Given the description of an element on the screen output the (x, y) to click on. 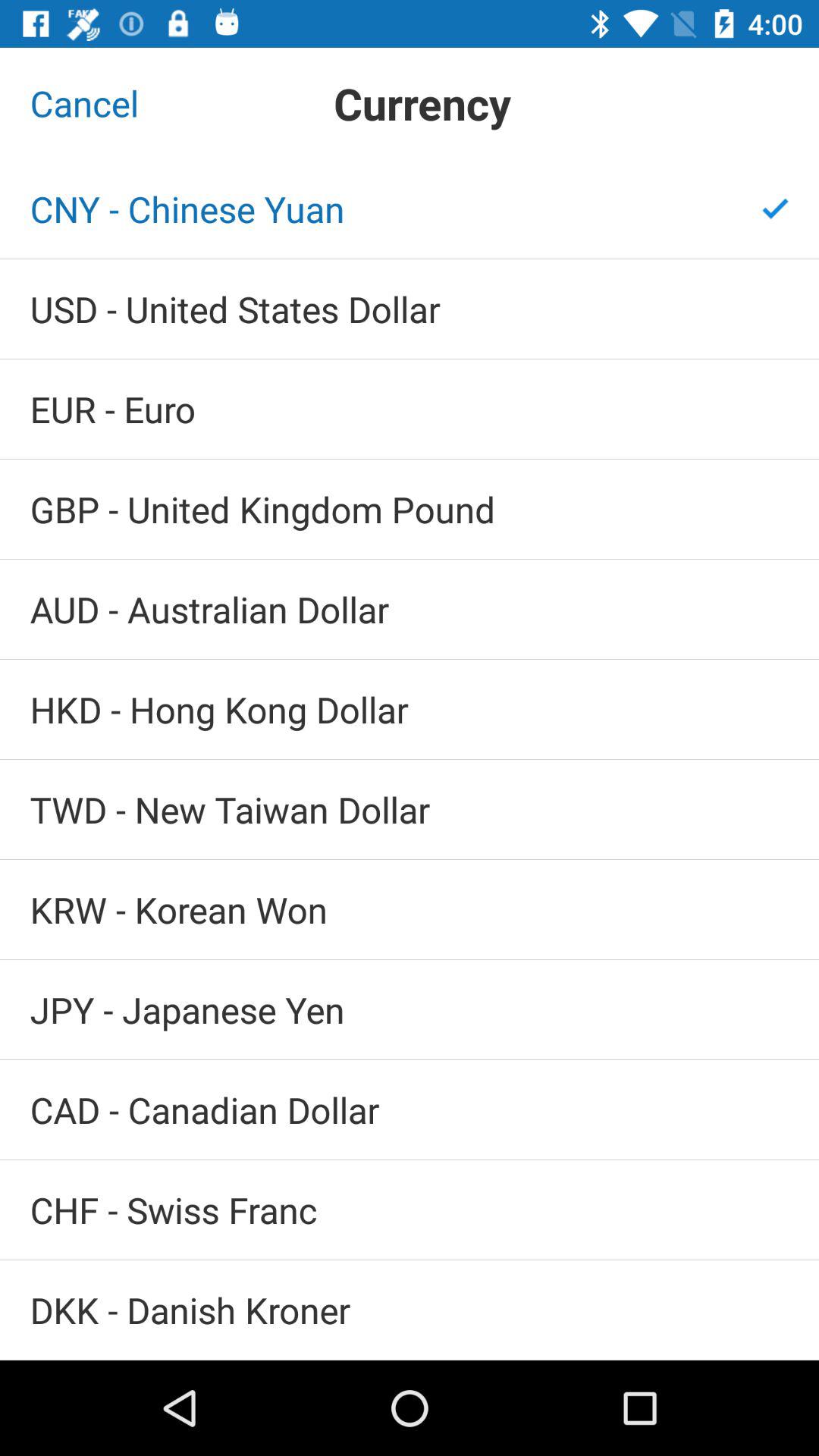
click icon below the cancel item (409, 208)
